Given the description of an element on the screen output the (x, y) to click on. 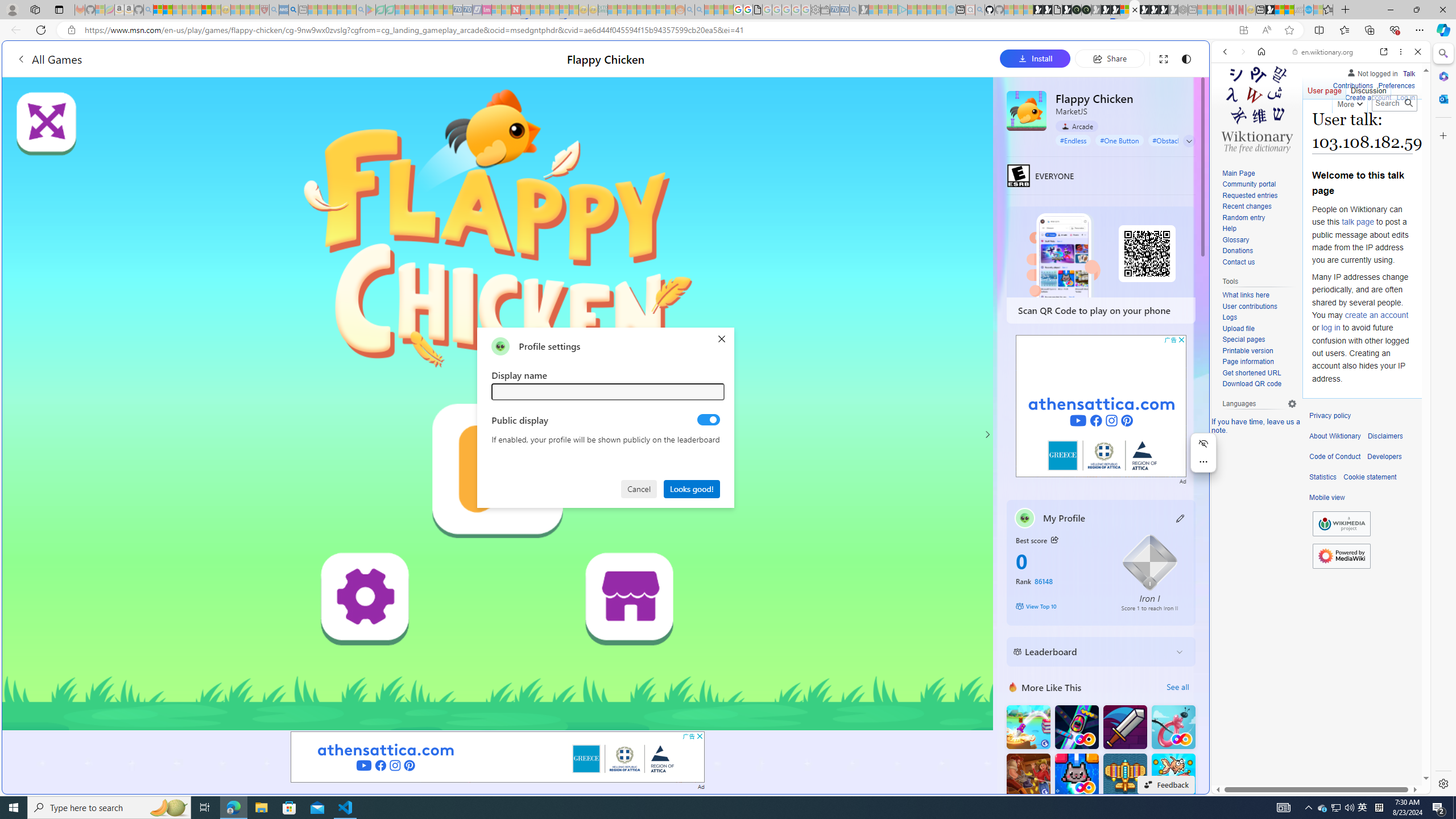
google_privacy_policy_zh-CN.pdf (757, 9)
Upload file (1238, 328)
Code of Conduct (1334, 456)
Requested entries (1259, 196)
WEB   (1230, 130)
Statistics (1322, 477)
Pets - MSN - Sleeping (340, 9)
Microsoft account | Privacy - Sleeping (892, 9)
